Given the description of an element on the screen output the (x, y) to click on. 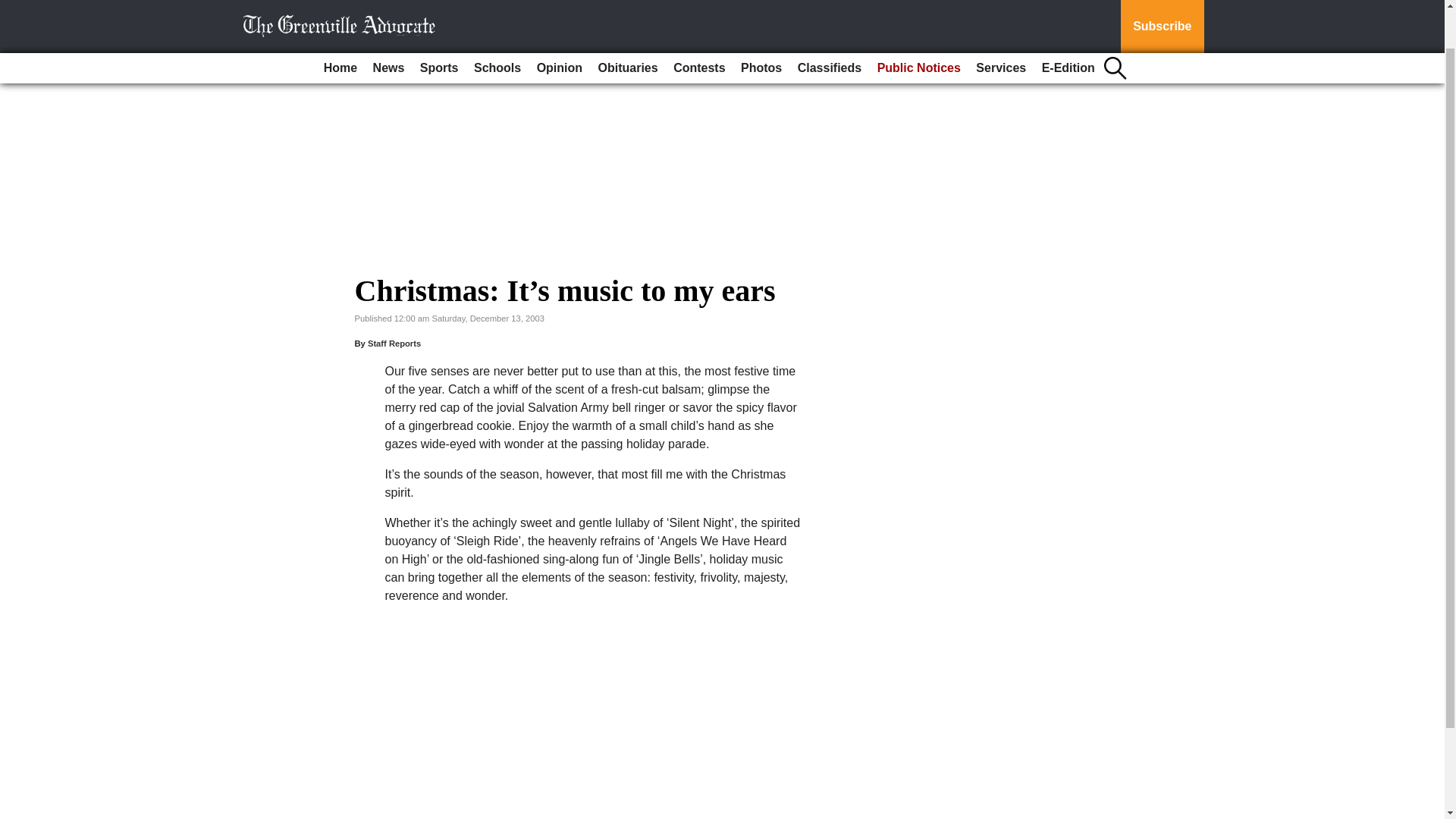
Photos (761, 23)
E-Edition (1067, 23)
Schools (497, 23)
Sports (438, 23)
Staff Reports (394, 343)
News (388, 23)
Contests (698, 23)
Subscribe (1162, 4)
Classifieds (829, 23)
Home (339, 23)
Opinion (559, 23)
Public Notices (918, 23)
Obituaries (627, 23)
Services (1000, 23)
